Given the description of an element on the screen output the (x, y) to click on. 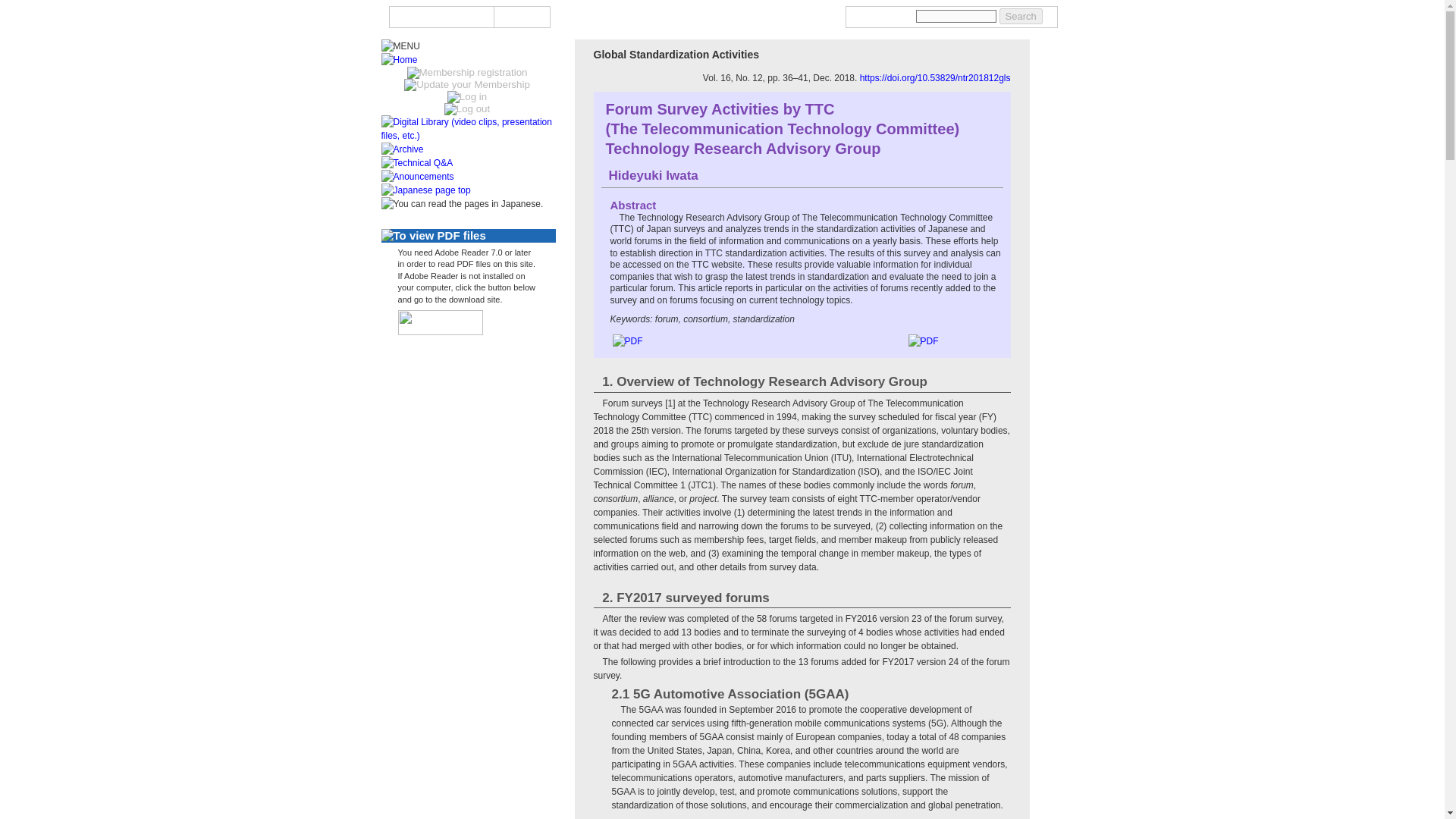
M (520, 16)
L (539, 16)
Hideyuki Iwata (652, 175)
Search (1020, 16)
S (504, 16)
